Given the description of an element on the screen output the (x, y) to click on. 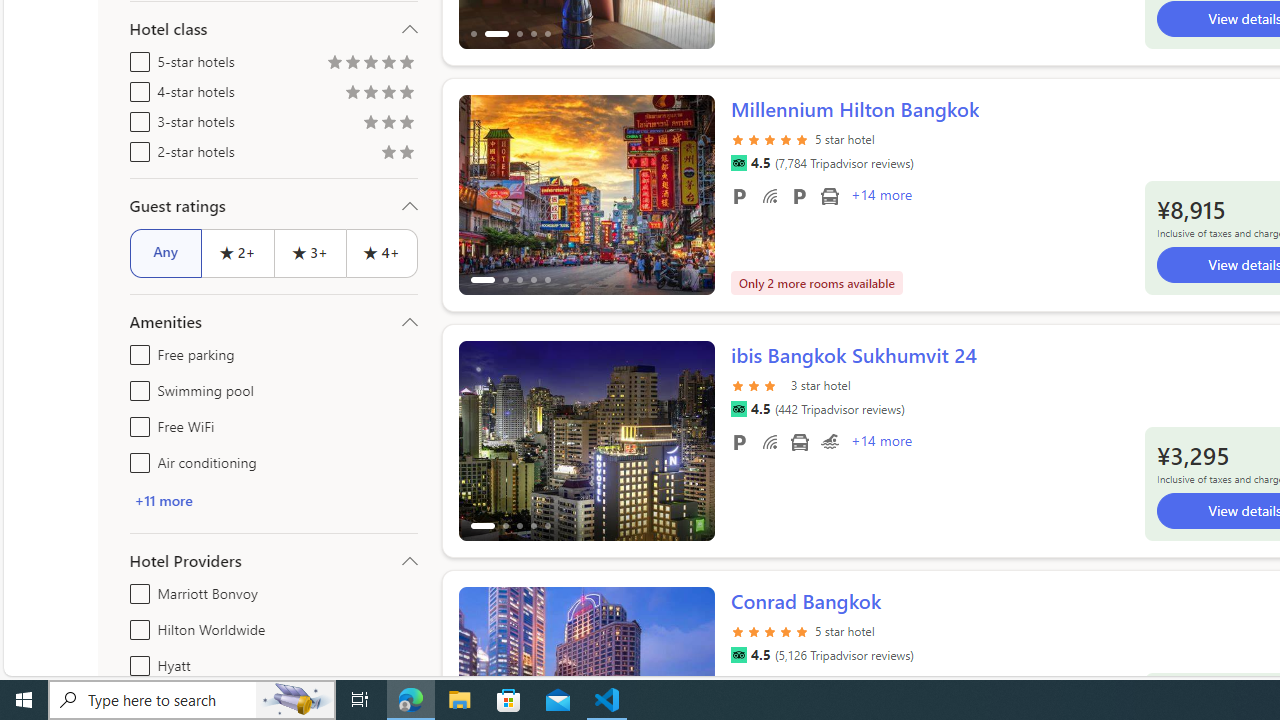
2-star hotels (136, 147)
4+ (381, 252)
ScrollRight (690, 678)
Free parking (136, 350)
3+ (308, 252)
Slide 1 (586, 440)
Airport transportation (798, 441)
ScrollLeft (482, 678)
Hotel Providers (273, 560)
Amenities (273, 321)
Hyatt (136, 661)
2+ (236, 252)
+14 More Amenities (880, 443)
Hotel class (273, 29)
Guest ratings (273, 205)
